Given the description of an element on the screen output the (x, y) to click on. 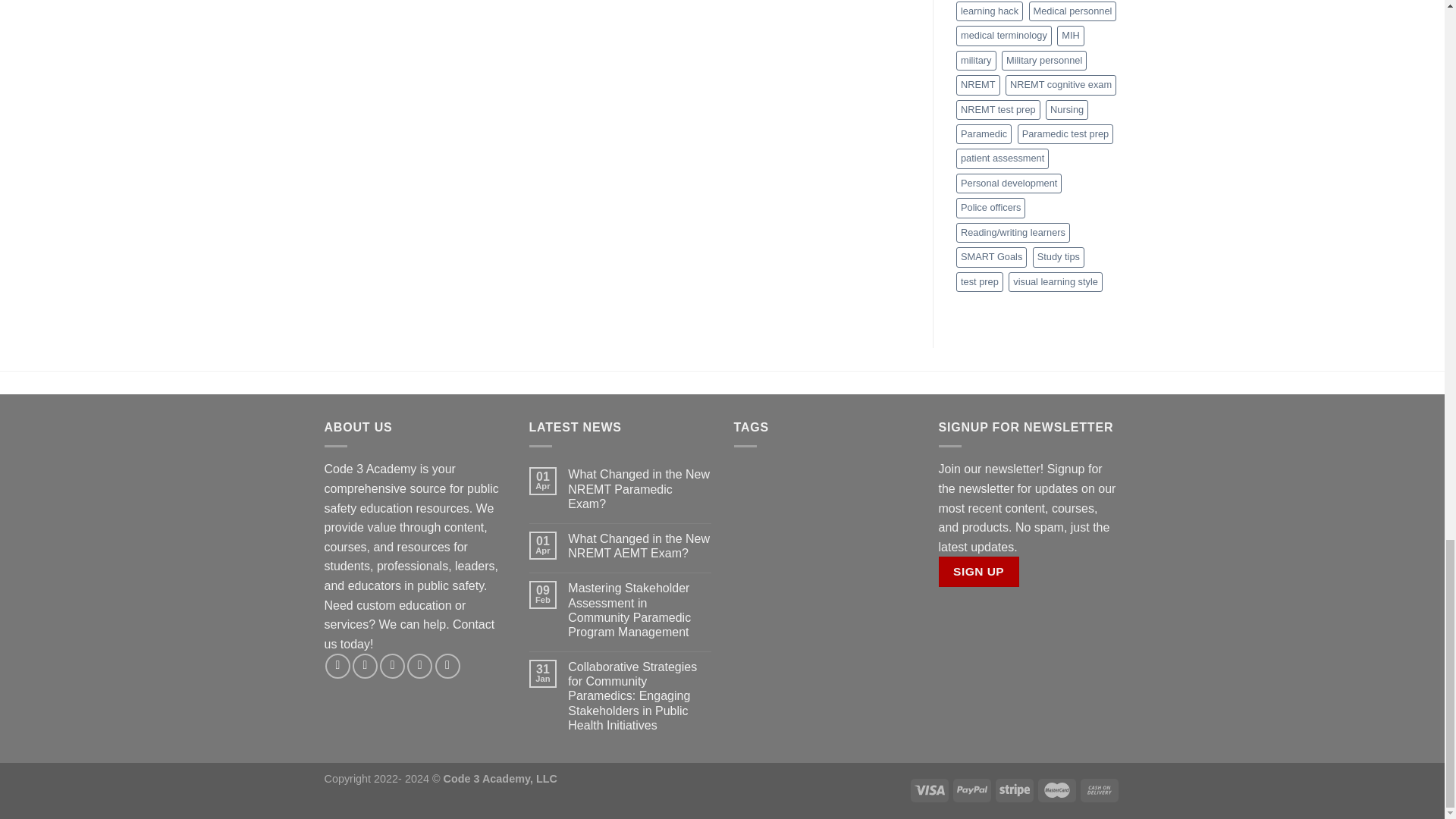
Follow on Twitter (392, 665)
Follow on Instagram (364, 665)
Follow on Facebook (337, 665)
Send us an email (419, 665)
Follow on Pinterest (447, 665)
